Given the description of an element on the screen output the (x, y) to click on. 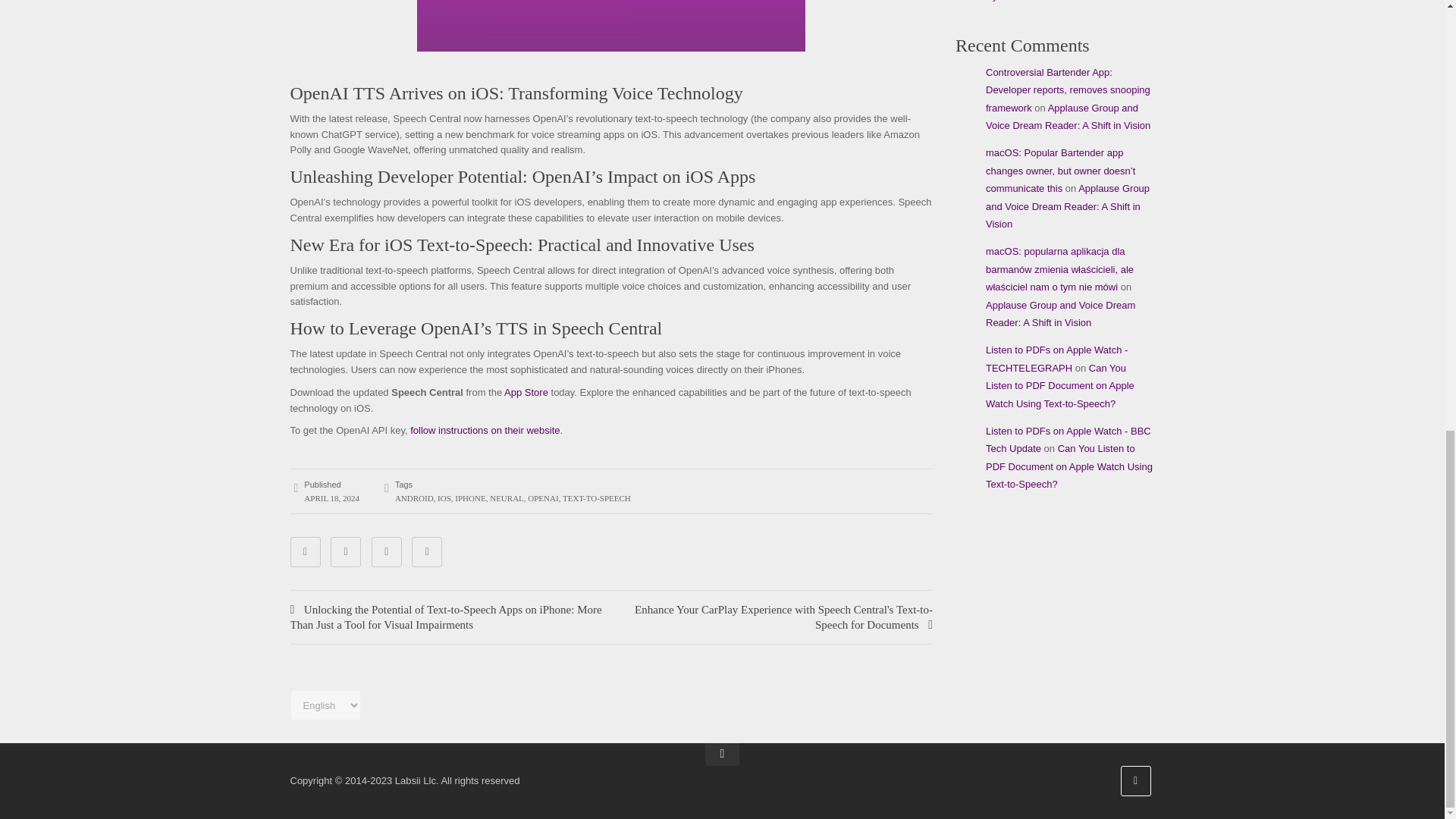
Go to top (721, 753)
Share on Twitter (345, 552)
Email this (427, 552)
follow instructions on their website (484, 430)
Share on LinkedIn (386, 552)
App Store (525, 392)
Share on Facebook (304, 552)
ANDROID (413, 497)
